Given the description of an element on the screen output the (x, y) to click on. 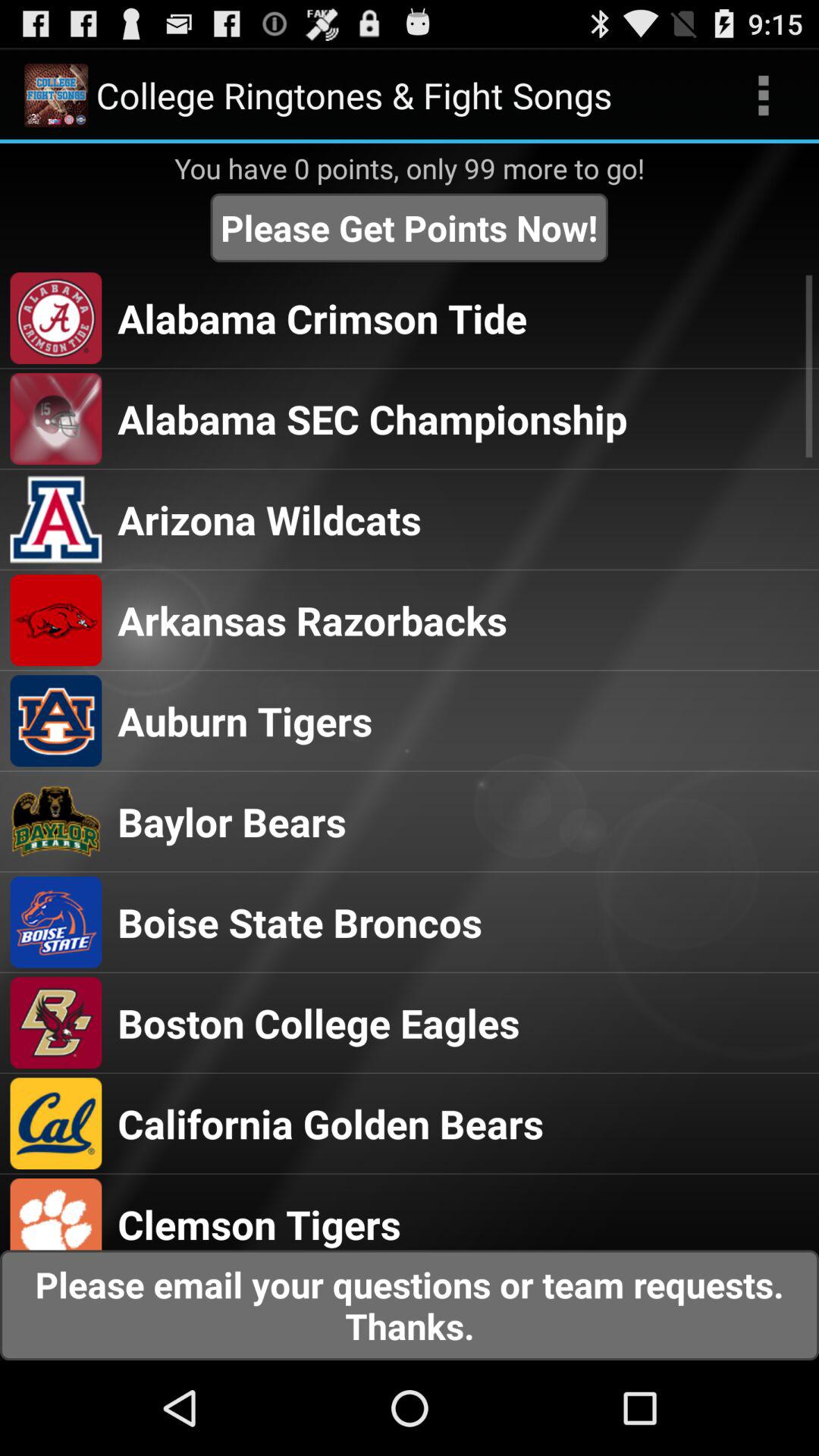
press app below the baylor bears item (299, 921)
